Given the description of an element on the screen output the (x, y) to click on. 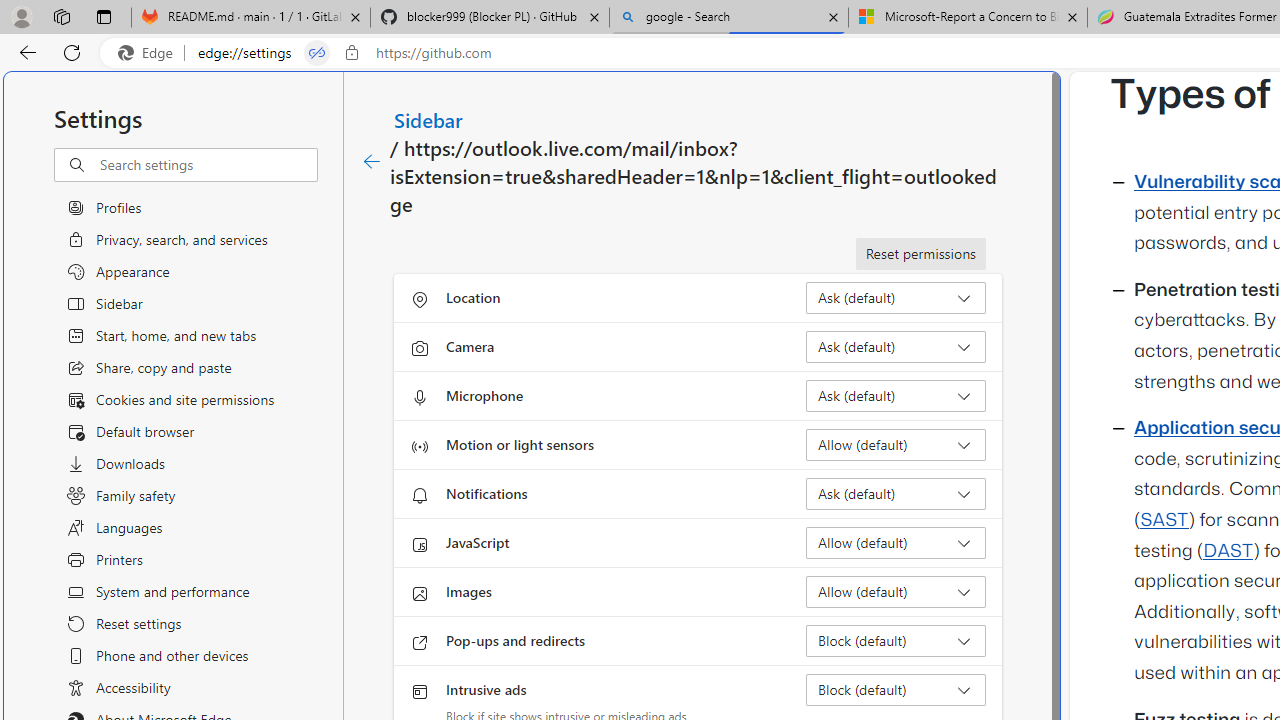
Microphone Ask (default) (895, 395)
Pop-ups and redirects Block (default) (895, 640)
Images Allow (default) (895, 591)
Notifications Ask (default) (895, 493)
Sidebar (429, 119)
Tabs in split screen (317, 53)
SAST (1164, 520)
DAST (1228, 551)
Camera Ask (default) (895, 346)
